Given the description of an element on the screen output the (x, y) to click on. 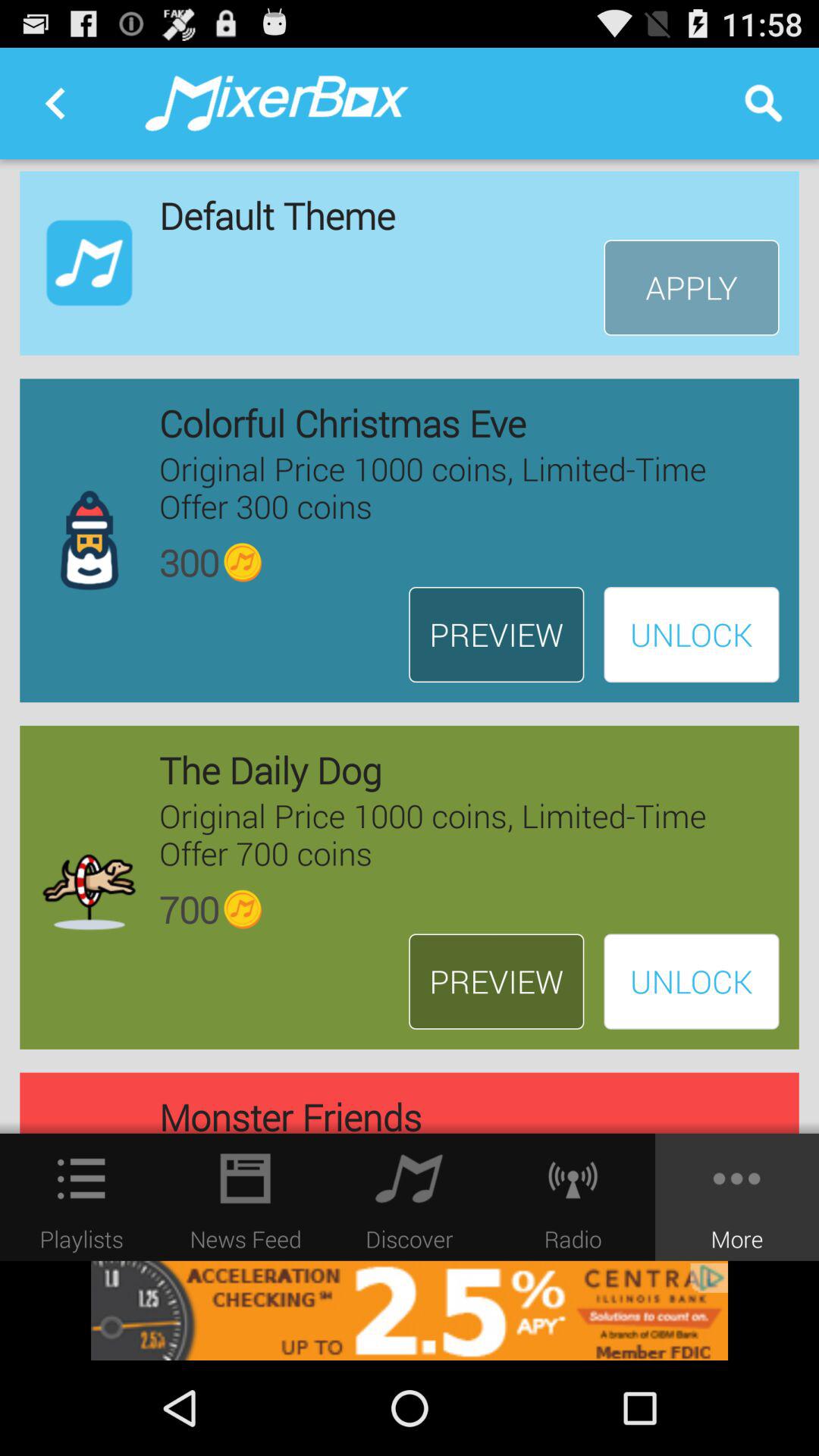
advertisement for centra (409, 1310)
